Given the description of an element on the screen output the (x, y) to click on. 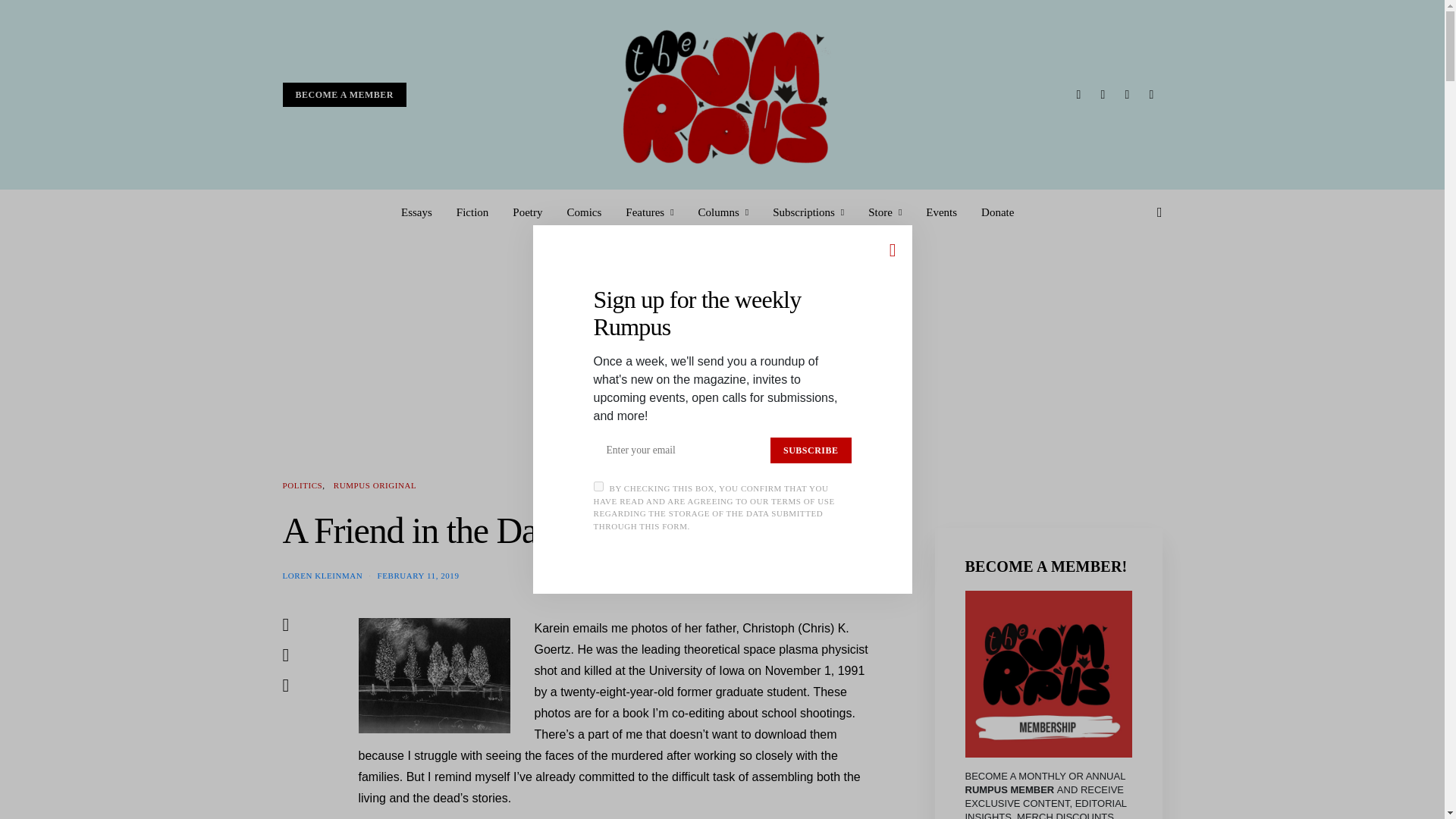
BECOME A MEMBER (344, 94)
View all posts by Loren Kleinman (322, 574)
on (597, 486)
